Given the description of an element on the screen output the (x, y) to click on. 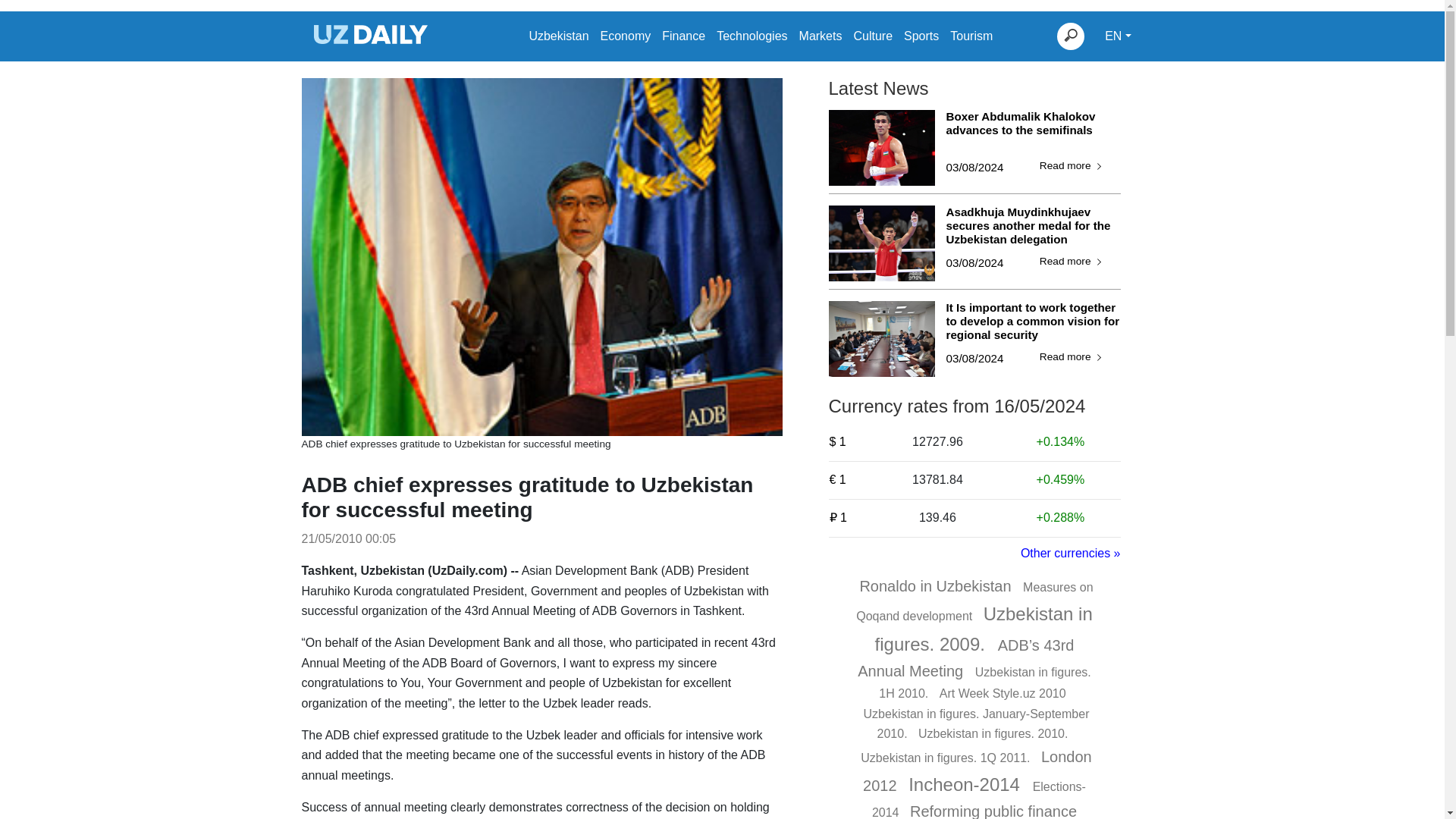
Read more (1072, 262)
Markets (821, 35)
Technologies (751, 35)
EN (1118, 35)
Finance (683, 35)
Boxer Abdumalik Khalokov advances to the semifinals (1033, 130)
Economy (624, 35)
Uzbekistan (558, 35)
Search (1070, 35)
Read more (1072, 166)
Tourism (971, 35)
Culture (872, 35)
Sports (921, 35)
